Given the description of an element on the screen output the (x, y) to click on. 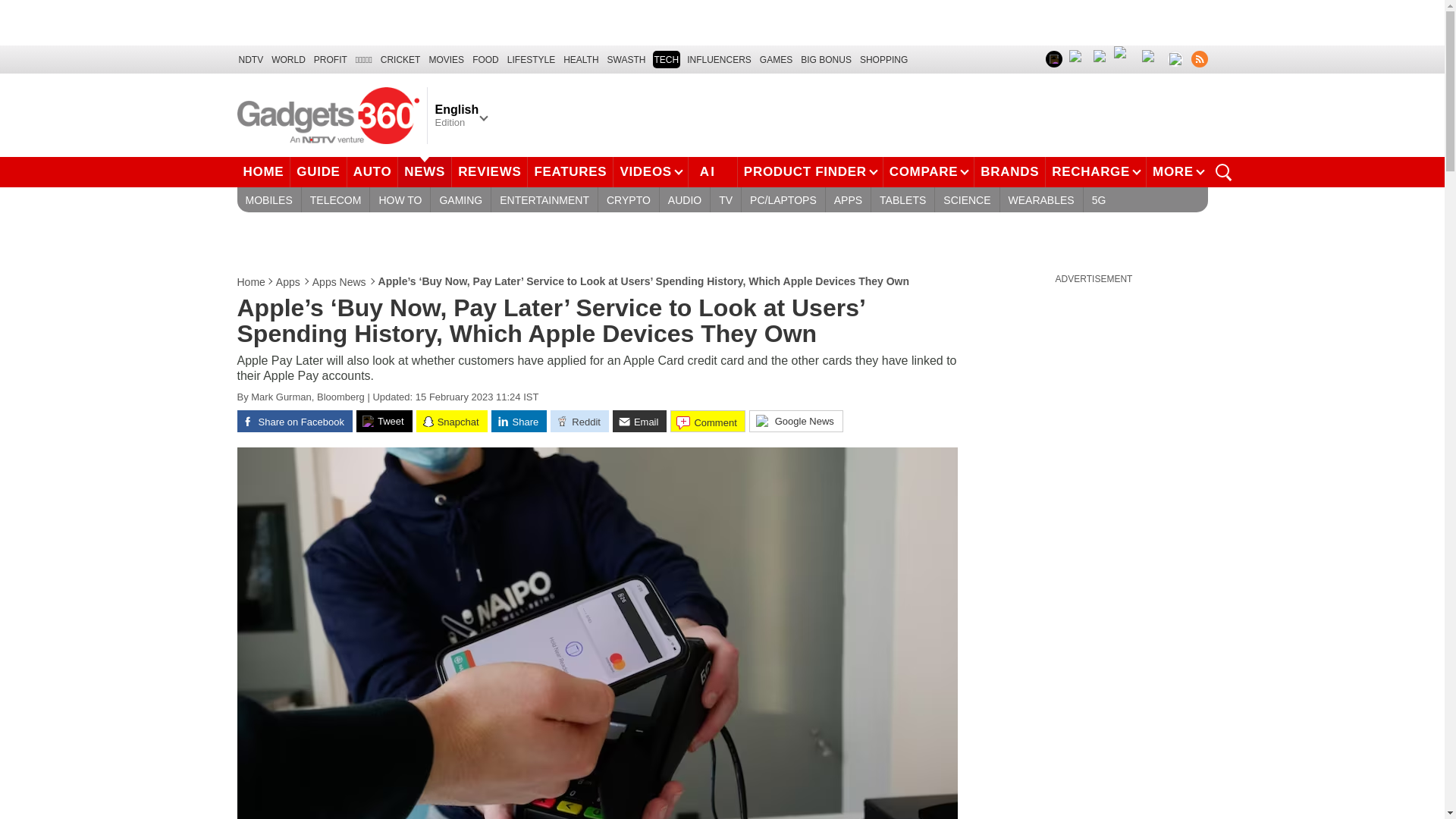
NDTV (249, 58)
LIFESTYLE (530, 58)
PROFIT (331, 58)
Influencers (718, 58)
FEATURES (569, 172)
BIG BONUS (826, 58)
NEWS (424, 172)
RSS (1199, 58)
VIDEOS (649, 172)
GAMES (775, 58)
TECH (665, 58)
NDTV (249, 58)
Games (775, 58)
HOME (262, 172)
World (288, 58)
